Given the description of an element on the screen output the (x, y) to click on. 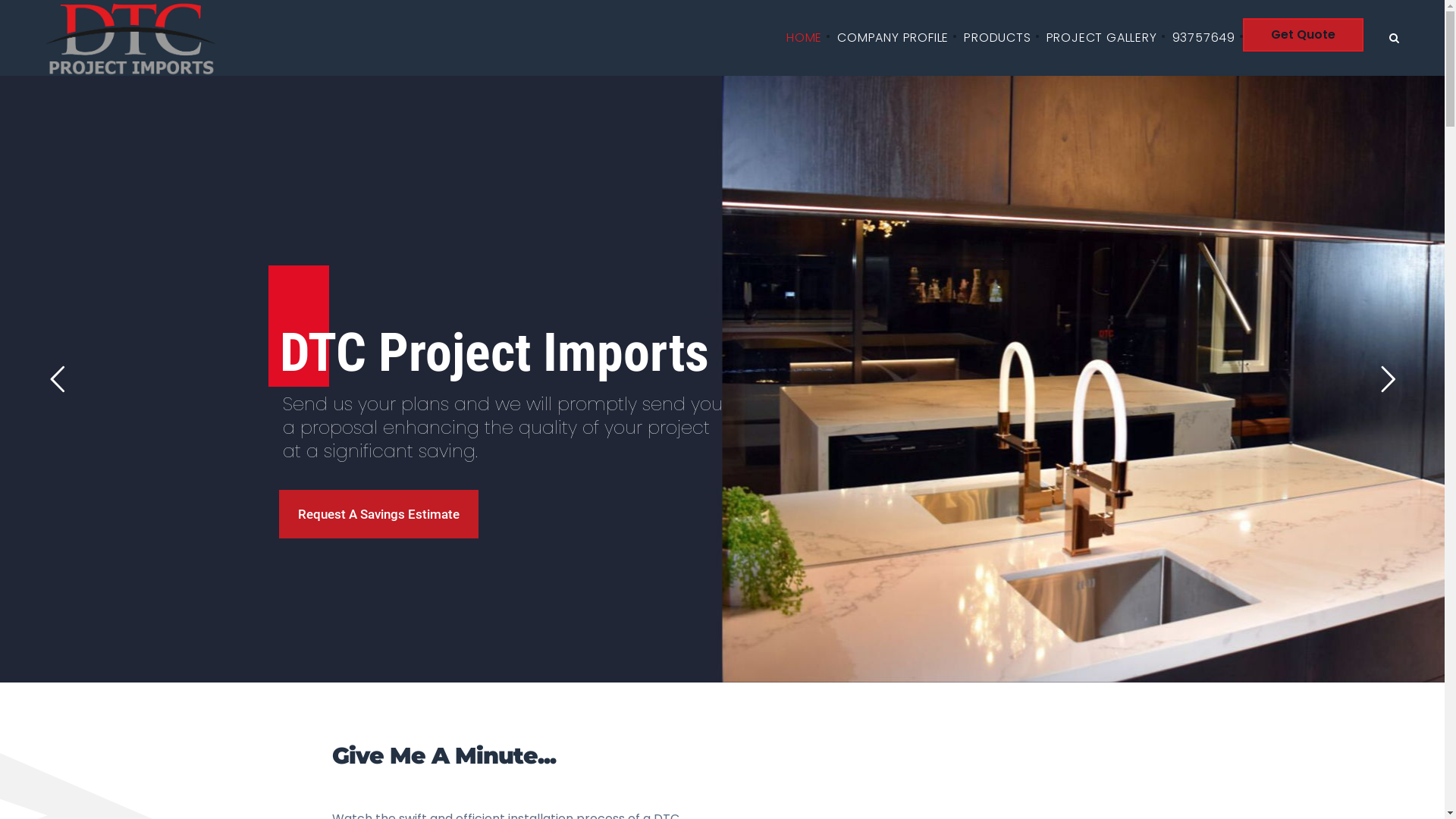
HOME Element type: text (804, 37)
PROJECT GALLERY Element type: text (1101, 37)
93757649 Element type: text (1203, 37)
Get Quote Element type: text (1302, 34)
COMPANY PROFILE Element type: text (892, 37)
PRODUCTS Element type: text (996, 37)
